Given the description of an element on the screen output the (x, y) to click on. 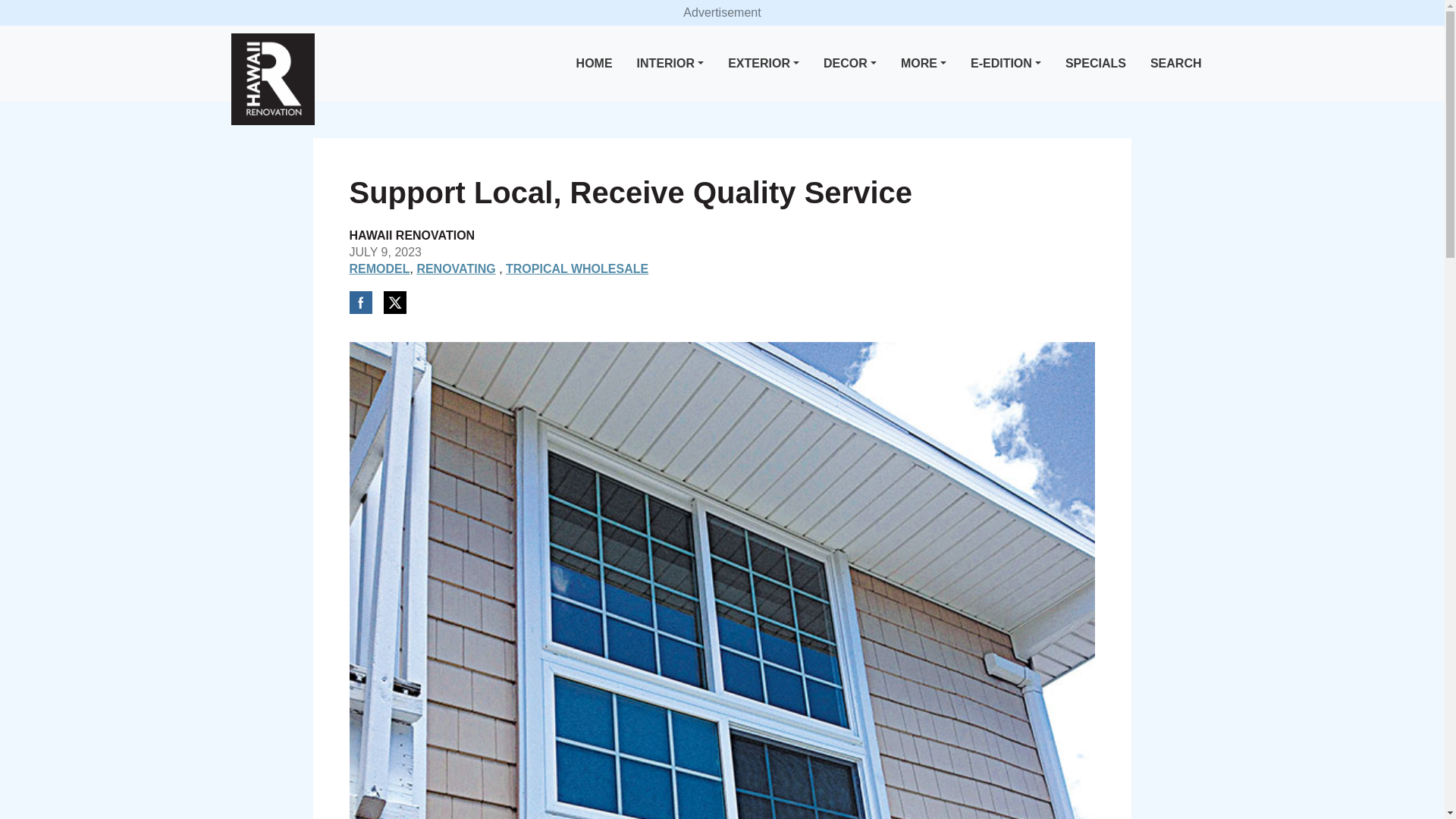
Hawaii Renovation (272, 79)
REMODEL (379, 268)
SPECIALS (1095, 63)
SEARCH (1176, 63)
HOME (594, 63)
INTERIOR (670, 63)
RENOVATING (455, 268)
DECOR (849, 63)
EXTERIOR (763, 63)
TROPICAL WHOLESALE (576, 268)
